Given the description of an element on the screen output the (x, y) to click on. 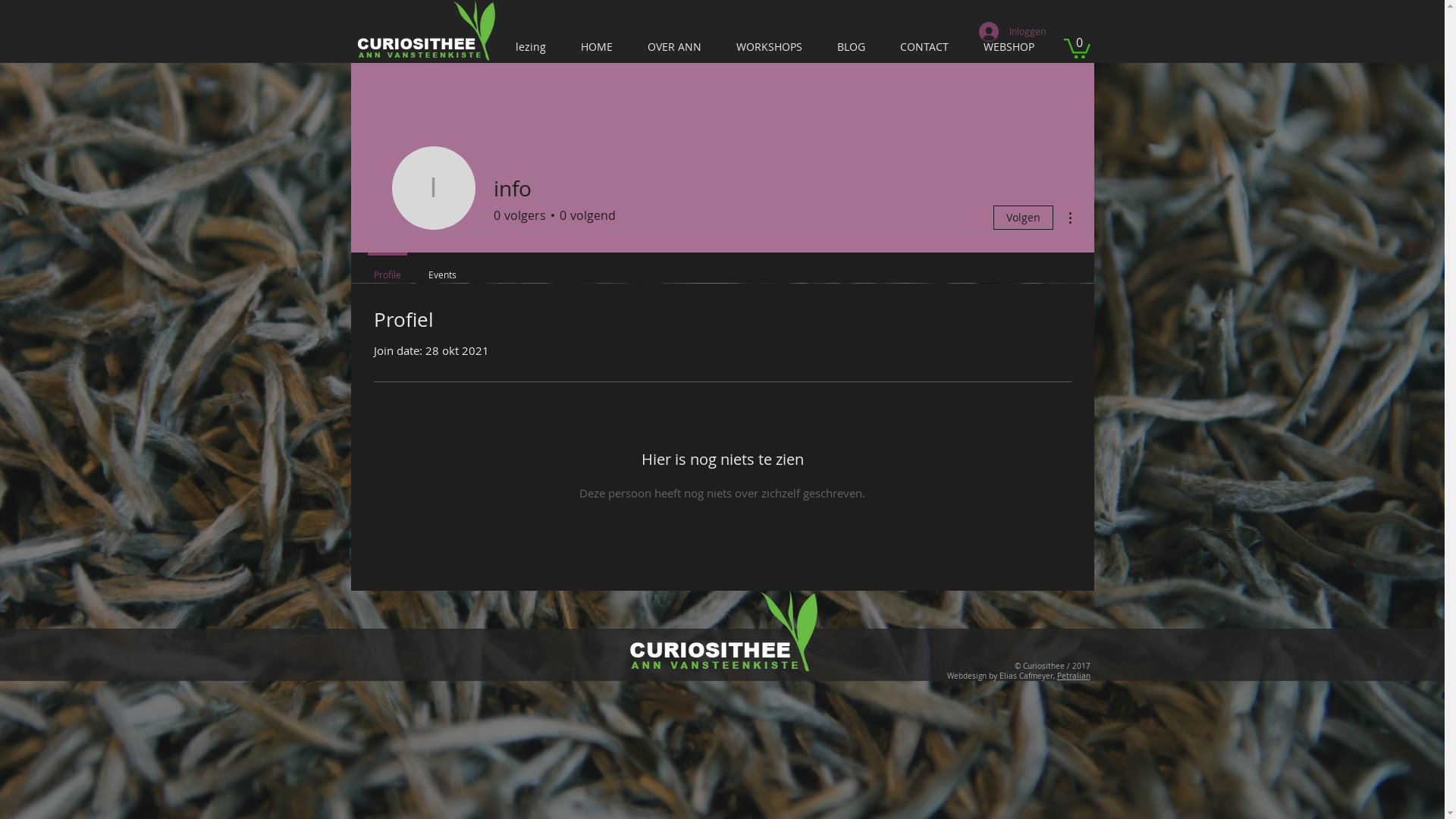
0 Element type: text (1076, 47)
Events Element type: text (441, 267)
Petralian Element type: text (1073, 675)
Volgen Element type: text (1023, 217)
logo wit.png Element type: hover (723, 630)
BLOG Element type: text (853, 46)
HOME Element type: text (598, 46)
lezing Element type: text (532, 46)
0
volgers Element type: text (518, 215)
WORKSHOPS Element type: text (770, 46)
Profile Element type: text (386, 267)
CONTACT Element type: text (925, 46)
OVER ANN Element type: text (676, 46)
WEBSHOP Element type: text (1009, 46)
Inloggen Element type: text (1011, 30)
logo wit.png Element type: hover (425, 30)
0
volgend Element type: text (584, 215)
